Given the description of an element on the screen output the (x, y) to click on. 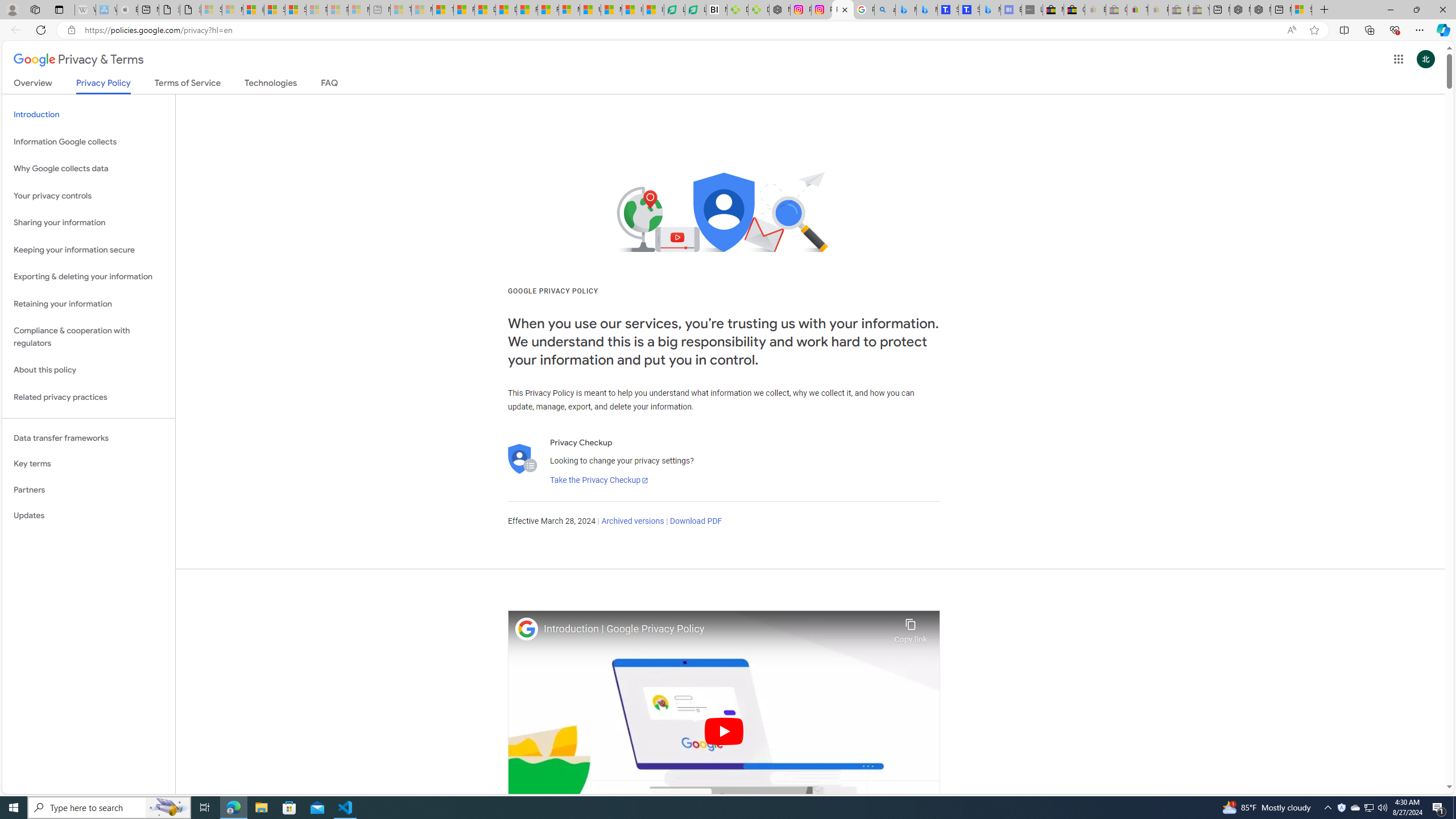
Key terms (88, 464)
Foo BAR | Trusted Community Engagement and Contributions (547, 9)
Take the Privacy Checkup (599, 480)
Privacy & Terms (78, 60)
Archived versions (632, 521)
Related privacy practices (88, 397)
Keeping your information secure (88, 249)
About this policy (88, 370)
Privacy Policy (103, 85)
Your privacy controls (88, 195)
